Given the description of an element on the screen output the (x, y) to click on. 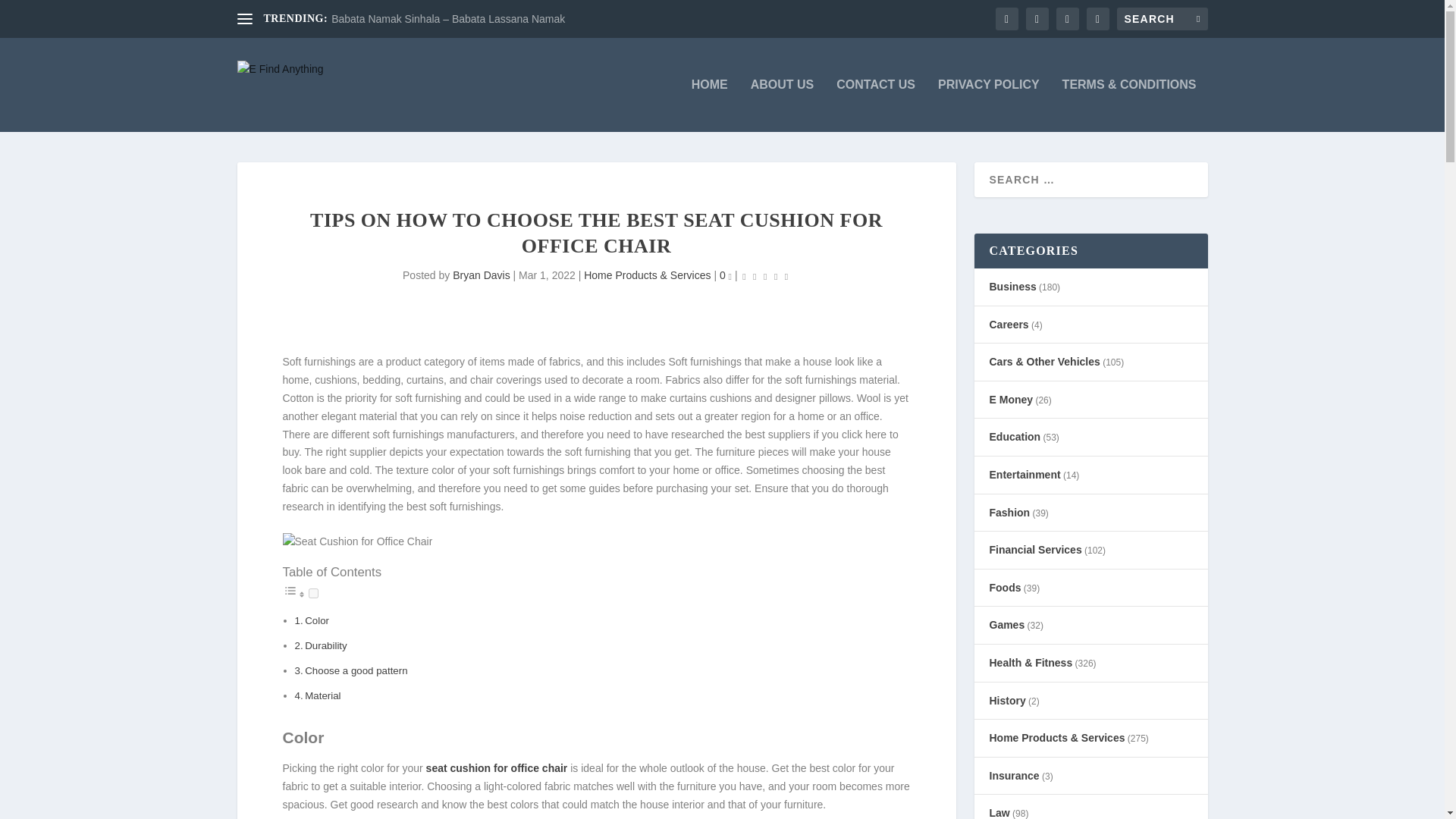
CONTACT US (875, 104)
ABOUT US (782, 104)
Search for: (1161, 18)
Color (316, 620)
Posts by Bryan Davis (480, 275)
Color (316, 620)
0 (725, 275)
Material (322, 695)
Durability (325, 645)
Choose a good pattern (355, 670)
Bryan Davis (480, 275)
on (312, 593)
Rating: 0.00 (764, 275)
PRIVACY POLICY (988, 104)
